Given the description of an element on the screen output the (x, y) to click on. 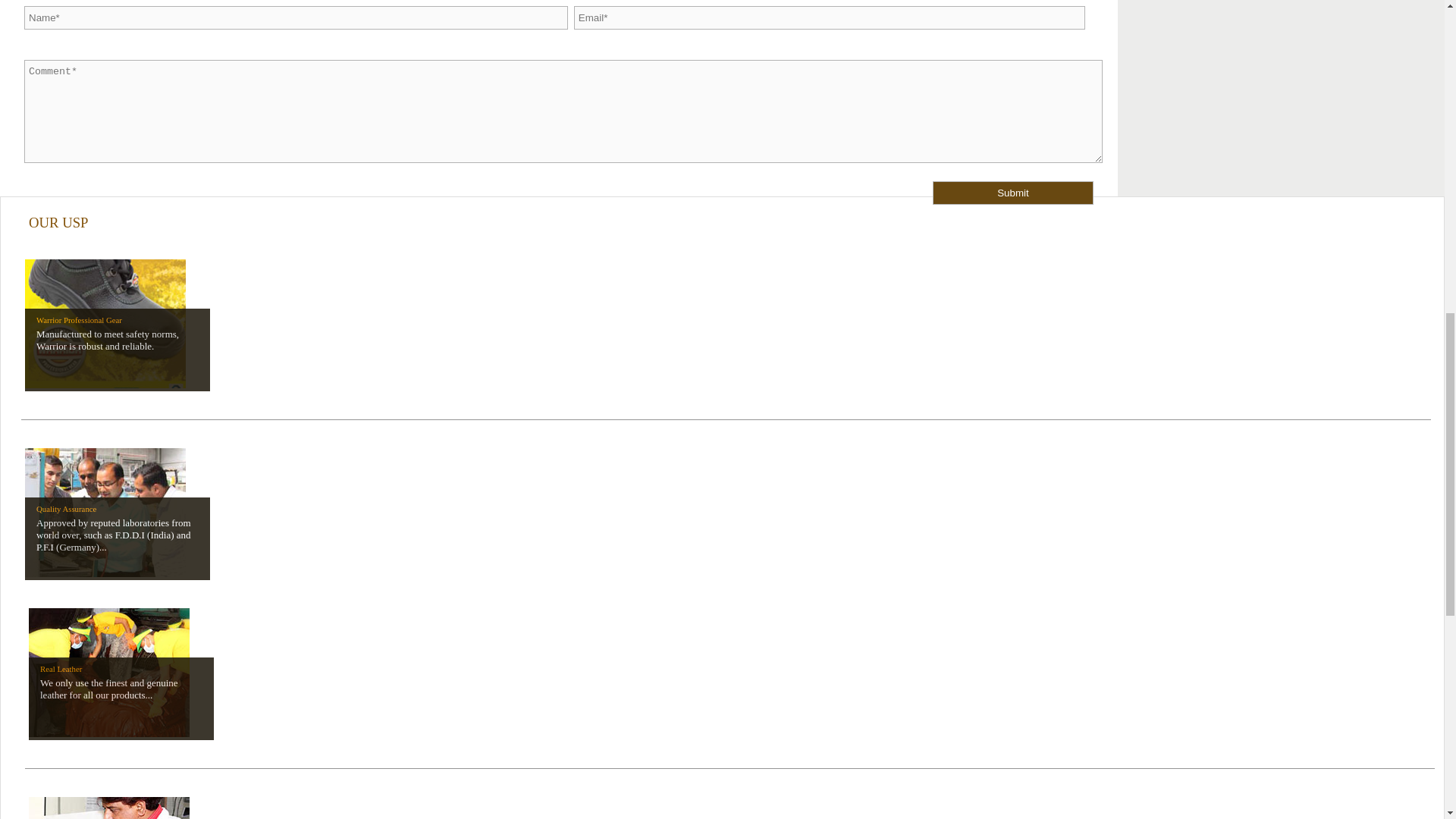
Submit (1013, 192)
Submit (1013, 192)
